Given the description of an element on the screen output the (x, y) to click on. 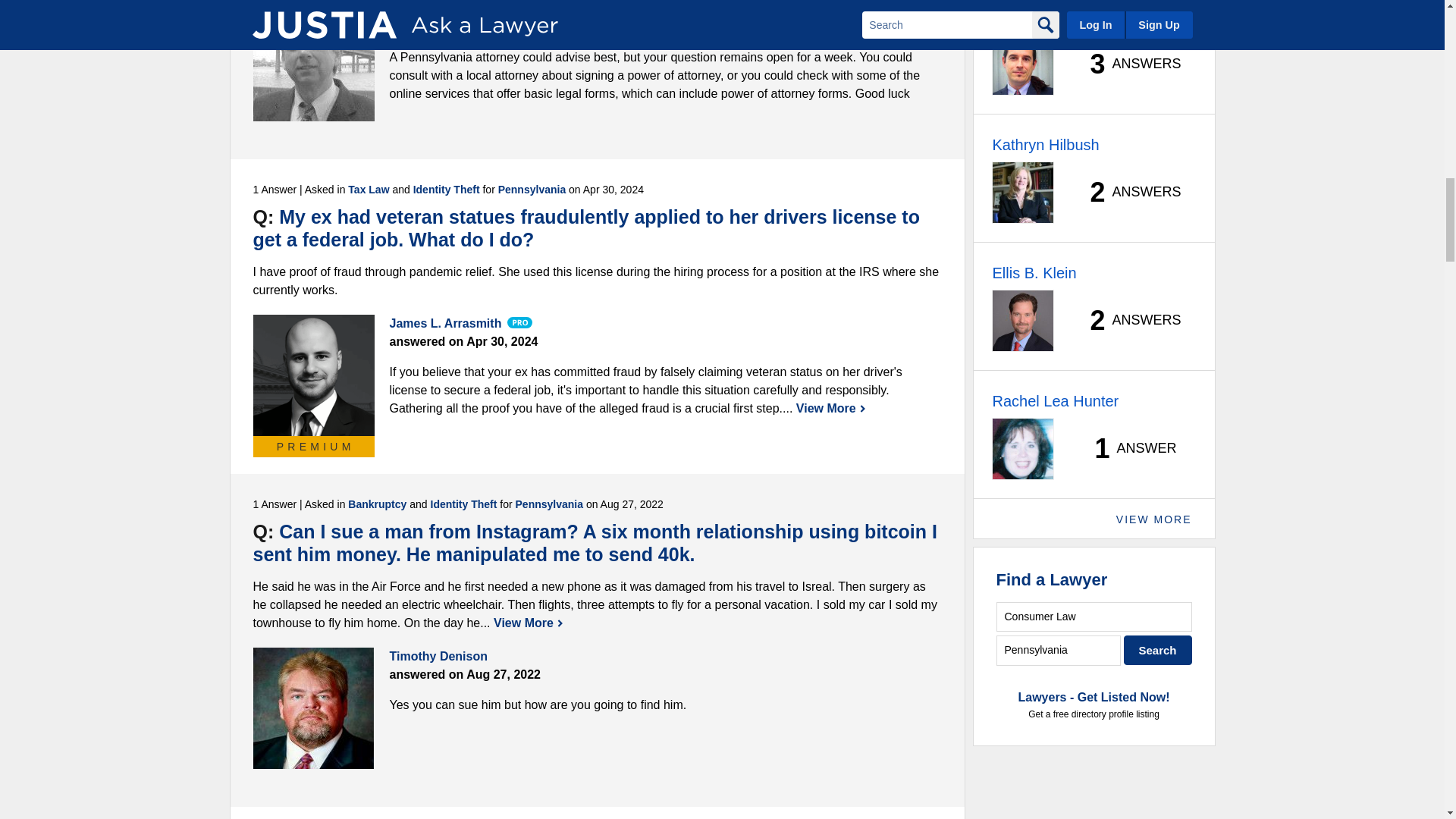
Search (1158, 650)
Consumer Law (1093, 616)
Search (1158, 650)
Timothy Denison (313, 708)
Tim Akpinar (313, 60)
Pennsylvania (1058, 650)
James L. Arrasmith (313, 374)
